Given the description of an element on the screen output the (x, y) to click on. 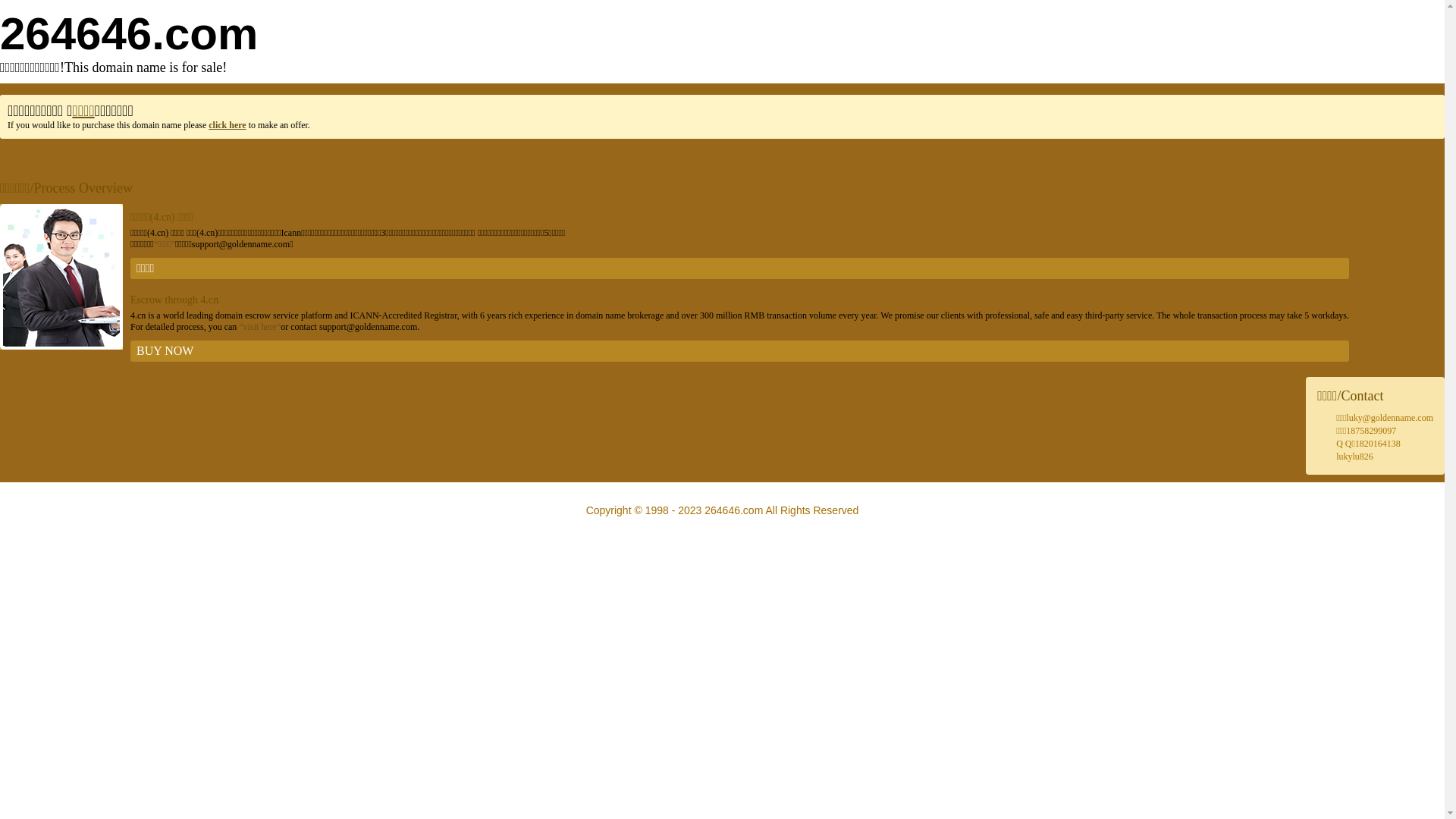
BUY NOW Element type: text (739, 350)
click here Element type: text (226, 124)
